Given the description of an element on the screen output the (x, y) to click on. 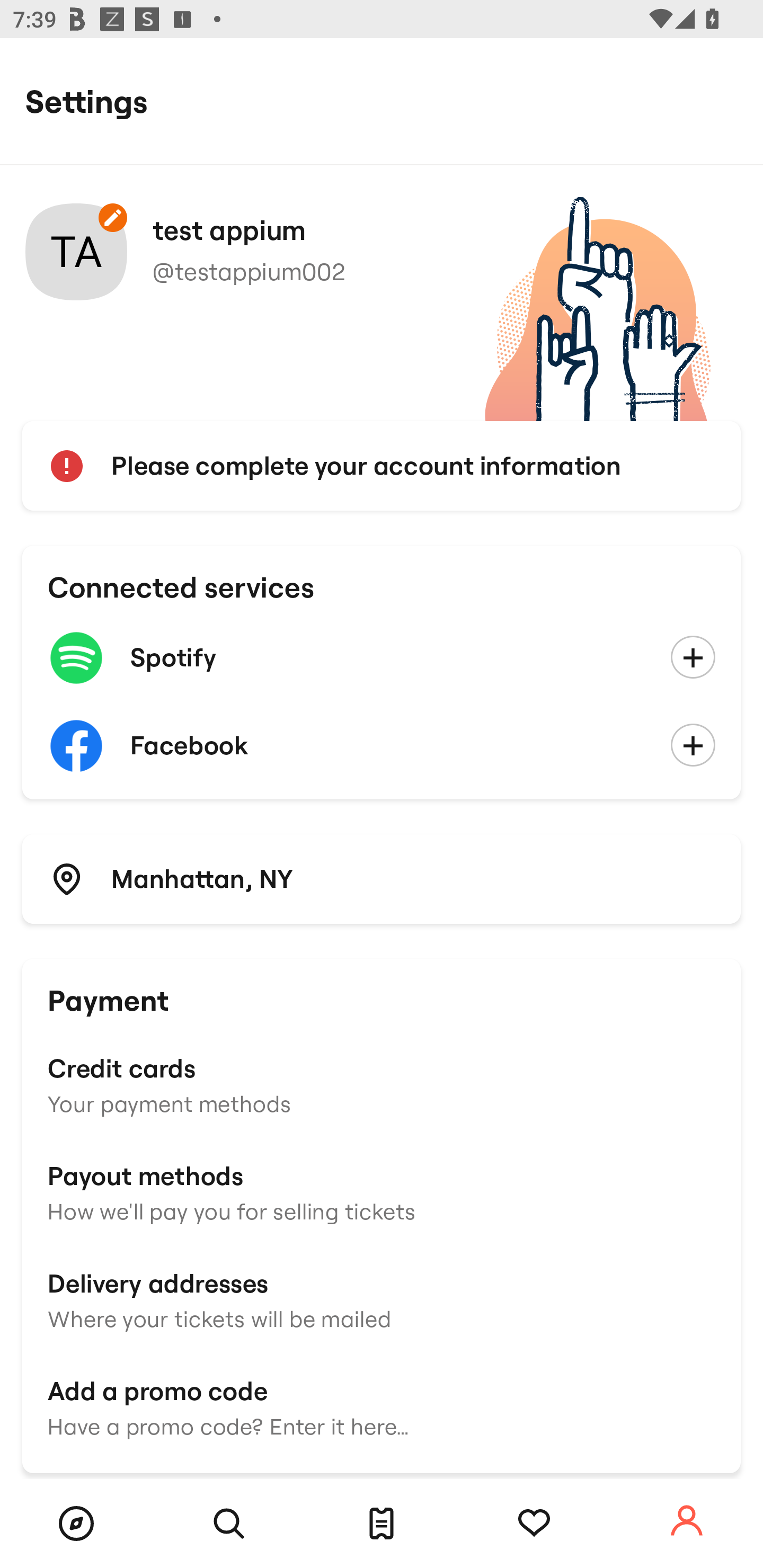
Your account photo (76, 252)
Please complete your account information (381, 466)
Spotify (381, 658)
Facebook (381, 746)
Manhattan, NY (381, 878)
Credit cards Your payment methods (381, 1084)
Add a promo code Have a promo code? Enter it here… (381, 1406)
Browse (76, 1523)
Search (228, 1523)
Tickets (381, 1523)
Tracking (533, 1523)
Account (686, 1521)
